Given the description of an element on the screen output the (x, y) to click on. 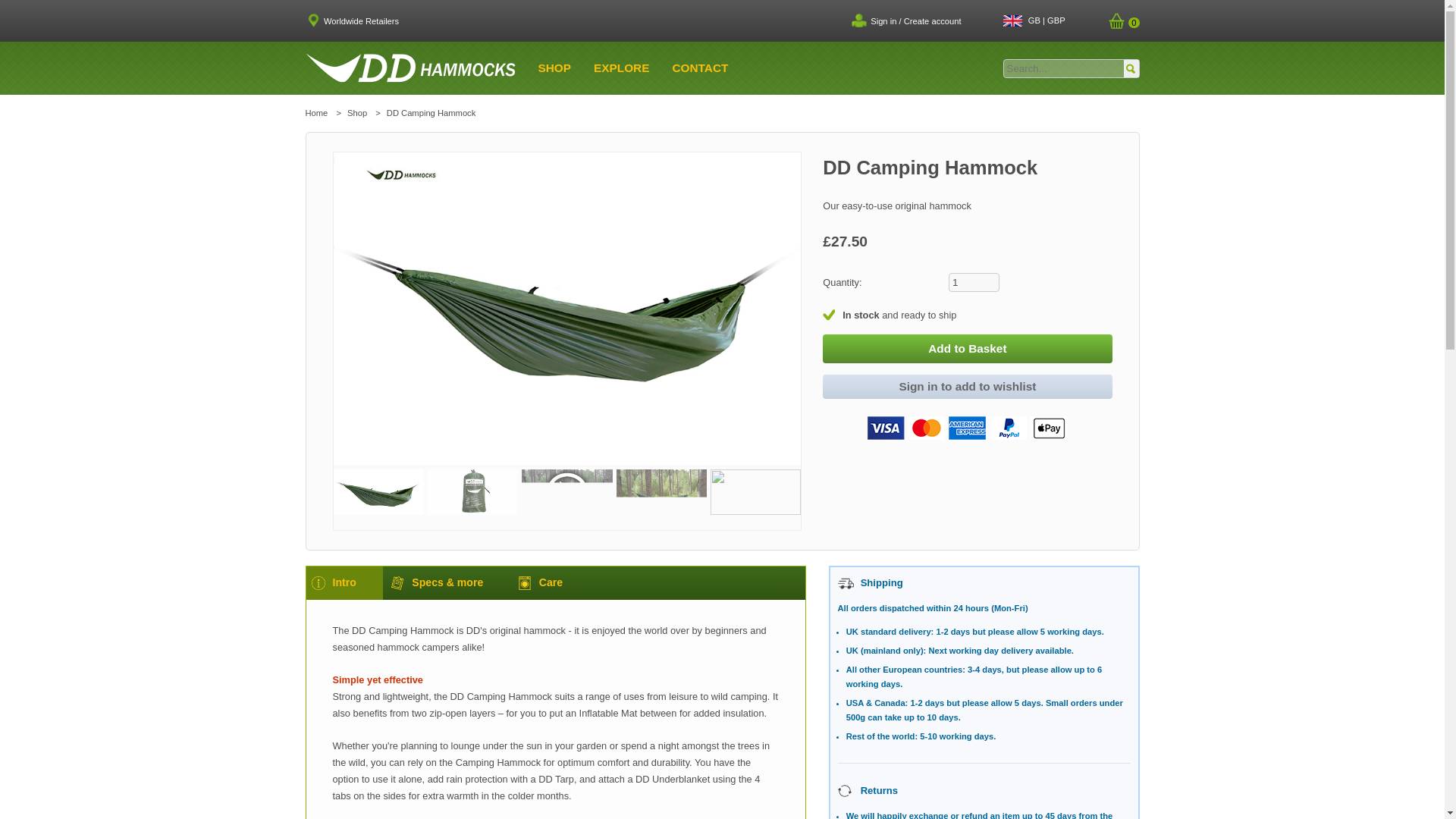
0 (1123, 22)
1 (973, 281)
EXPLORE (621, 67)
SHOP (555, 67)
